Given the description of an element on the screen output the (x, y) to click on. 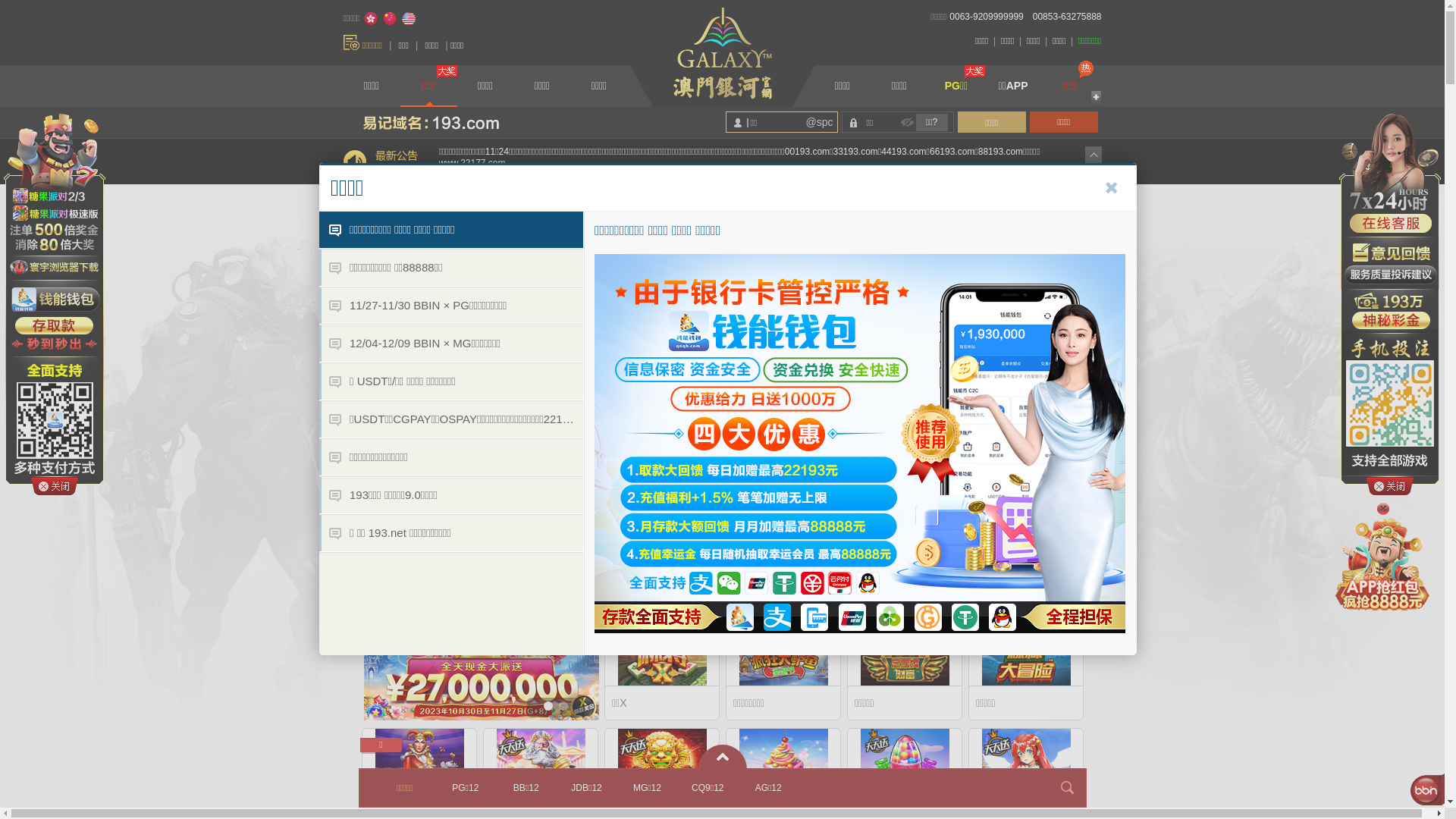
English Element type: hover (408, 18)
